Given the description of an element on the screen output the (x, y) to click on. 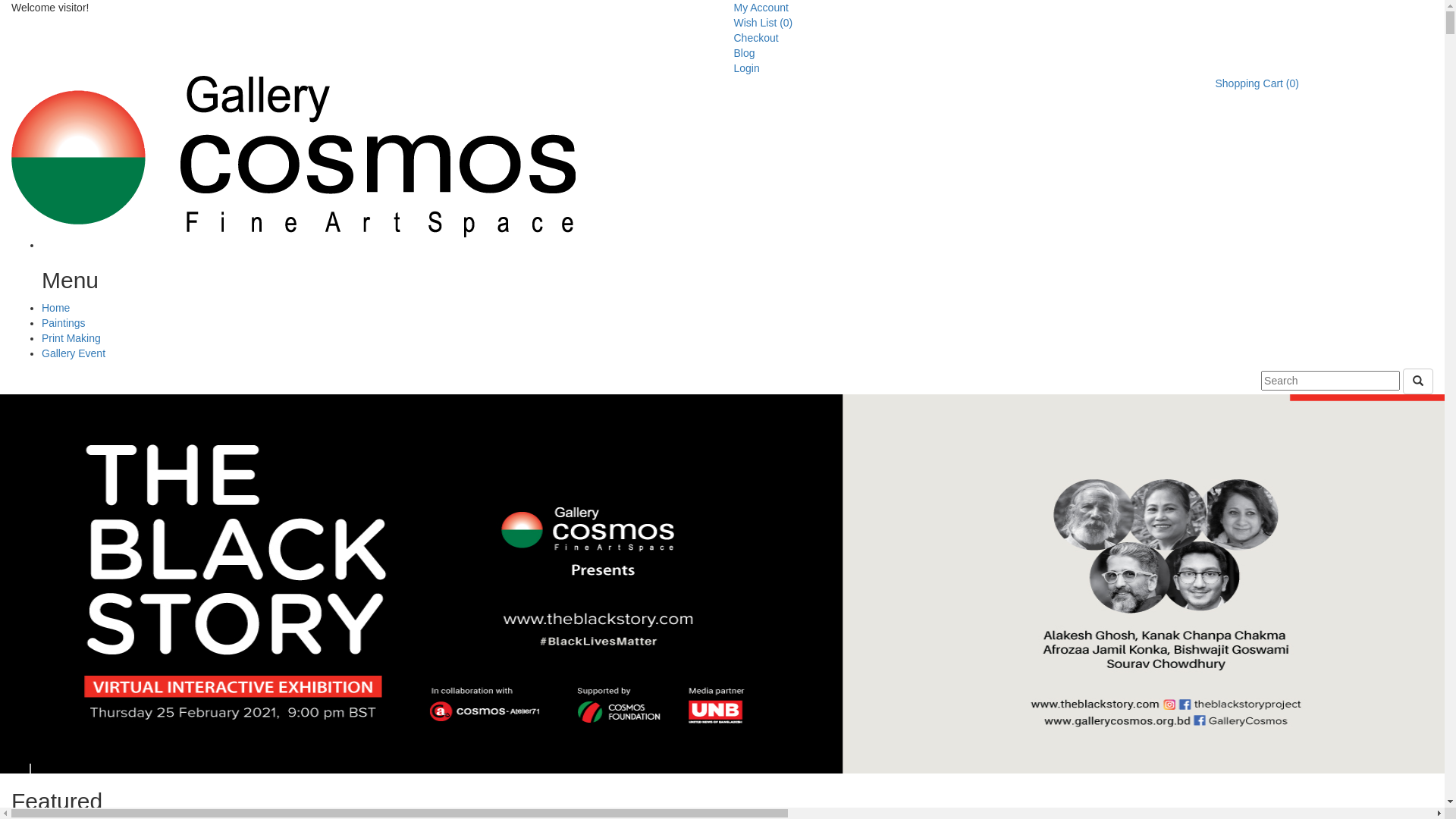
Cosmos Gallery Element type: hover (293, 155)
Kali Artist - Residency Grant Element type: hover (722, 583)
Gallery Event Element type: text (73, 353)
Checkout Element type: text (756, 37)
Blog Element type: text (744, 53)
My Account Element type: text (761, 7)
Paintings Element type: text (63, 322)
Print Making Element type: text (70, 338)
Home Element type: text (55, 307)
Shopping Cart (0) Element type: text (1256, 83)
Wish List (0) Element type: text (763, 22)
Login Element type: text (746, 68)
Cosmos Gallery Element type: hover (293, 156)
